Given the description of an element on the screen output the (x, y) to click on. 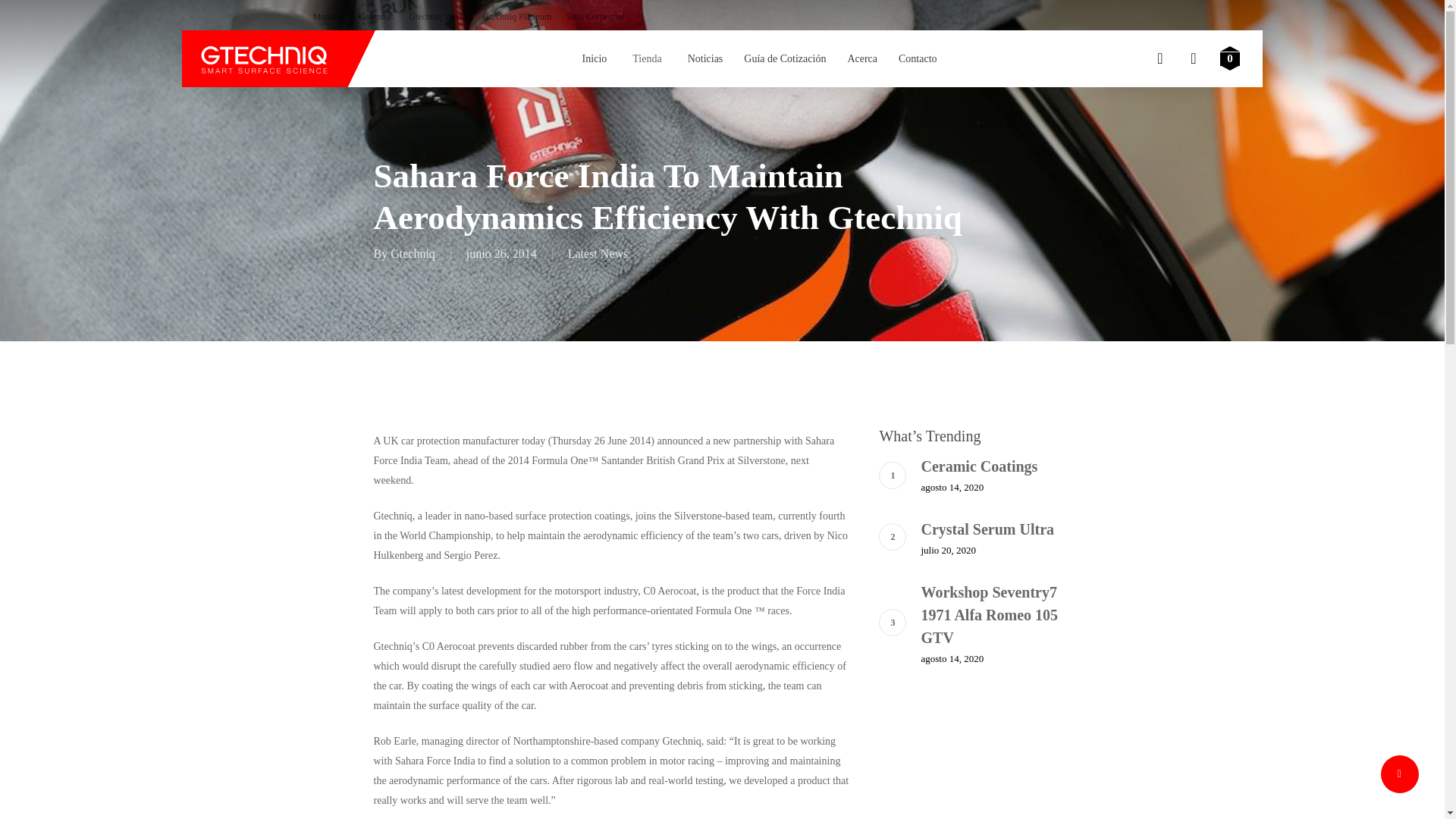
Entradas de Gtechniq (412, 253)
Gtechniq Works (438, 15)
Mundial (328, 15)
Gtechniq Platinum (517, 15)
Sitio Comercial (595, 15)
